Given the description of an element on the screen output the (x, y) to click on. 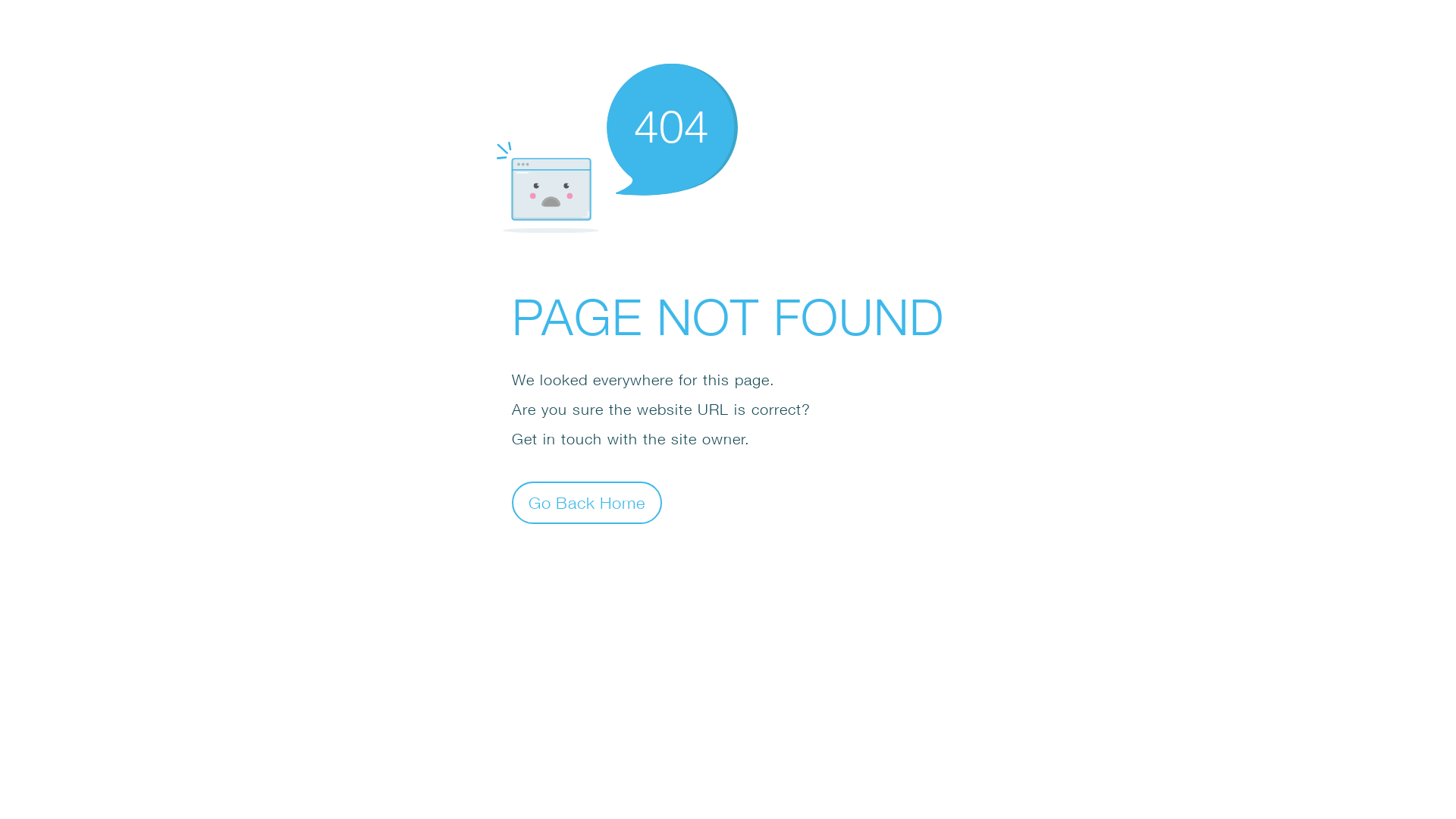
Go Back Home Element type: text (586, 502)
